Given the description of an element on the screen output the (x, y) to click on. 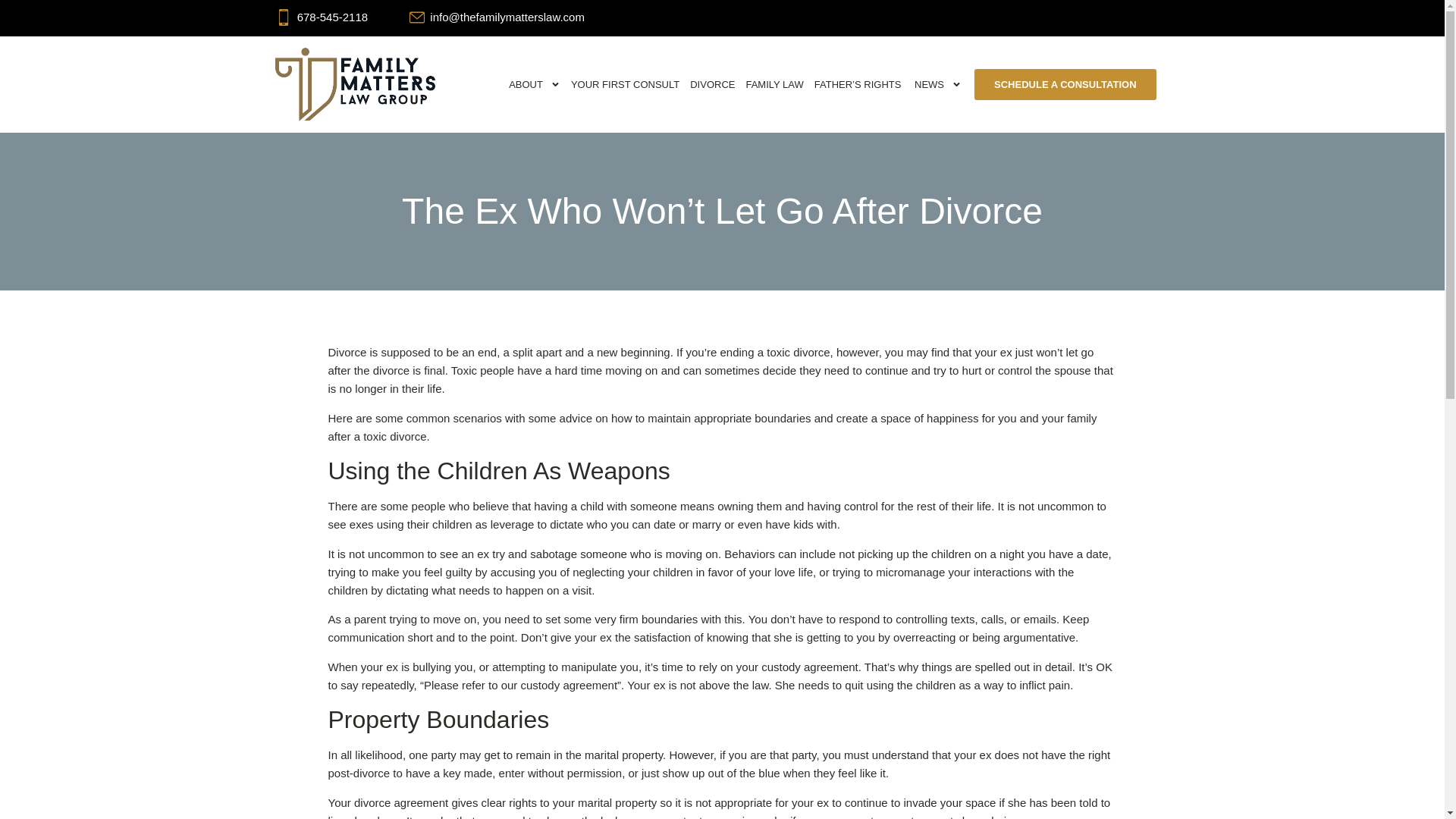
678-545-2118 (332, 16)
SCHEDULE A CONSULTATION (1065, 83)
ABOUT (534, 84)
YOUR FIRST CONSULT (625, 84)
DIVORCE (711, 84)
FAMILY LAW (773, 84)
NEWS (937, 84)
